Given the description of an element on the screen output the (x, y) to click on. 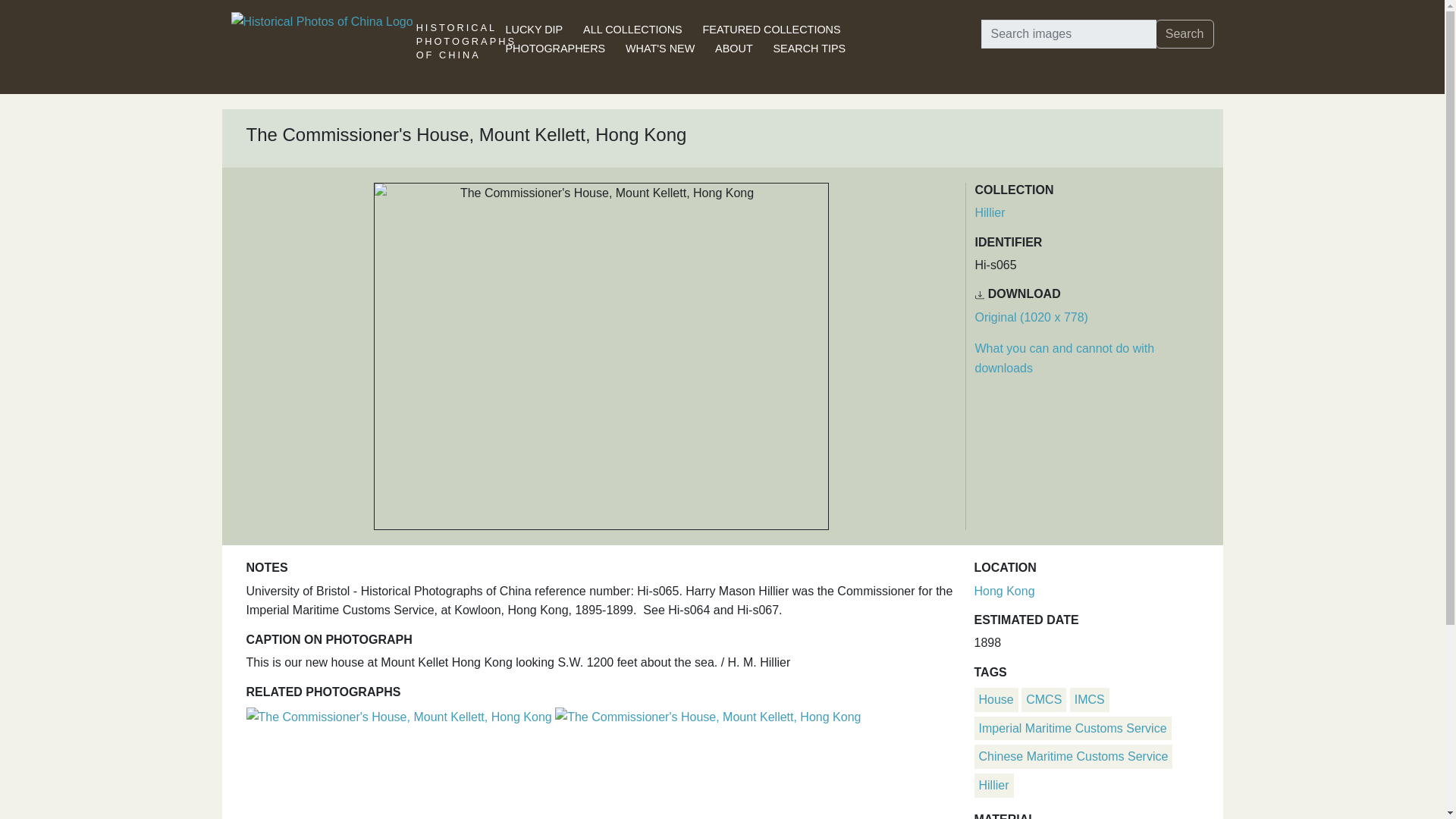
Search (1185, 33)
PHOTOGRAPHERS (555, 48)
FEATURED COLLECTIONS (772, 29)
Hillier (993, 784)
ALL COLLECTIONS (632, 29)
What you can and cannot do with downloads (1064, 358)
LUCKY DIP (533, 29)
Hillier (990, 212)
IMCS (1089, 698)
ABOUT (733, 48)
HISTORICAL PHOTOGRAPHS OF CHINA (466, 53)
House (995, 698)
Hong Kong (1003, 590)
SEARCH TIPS (809, 48)
CMCS (1043, 698)
